Given the description of an element on the screen output the (x, y) to click on. 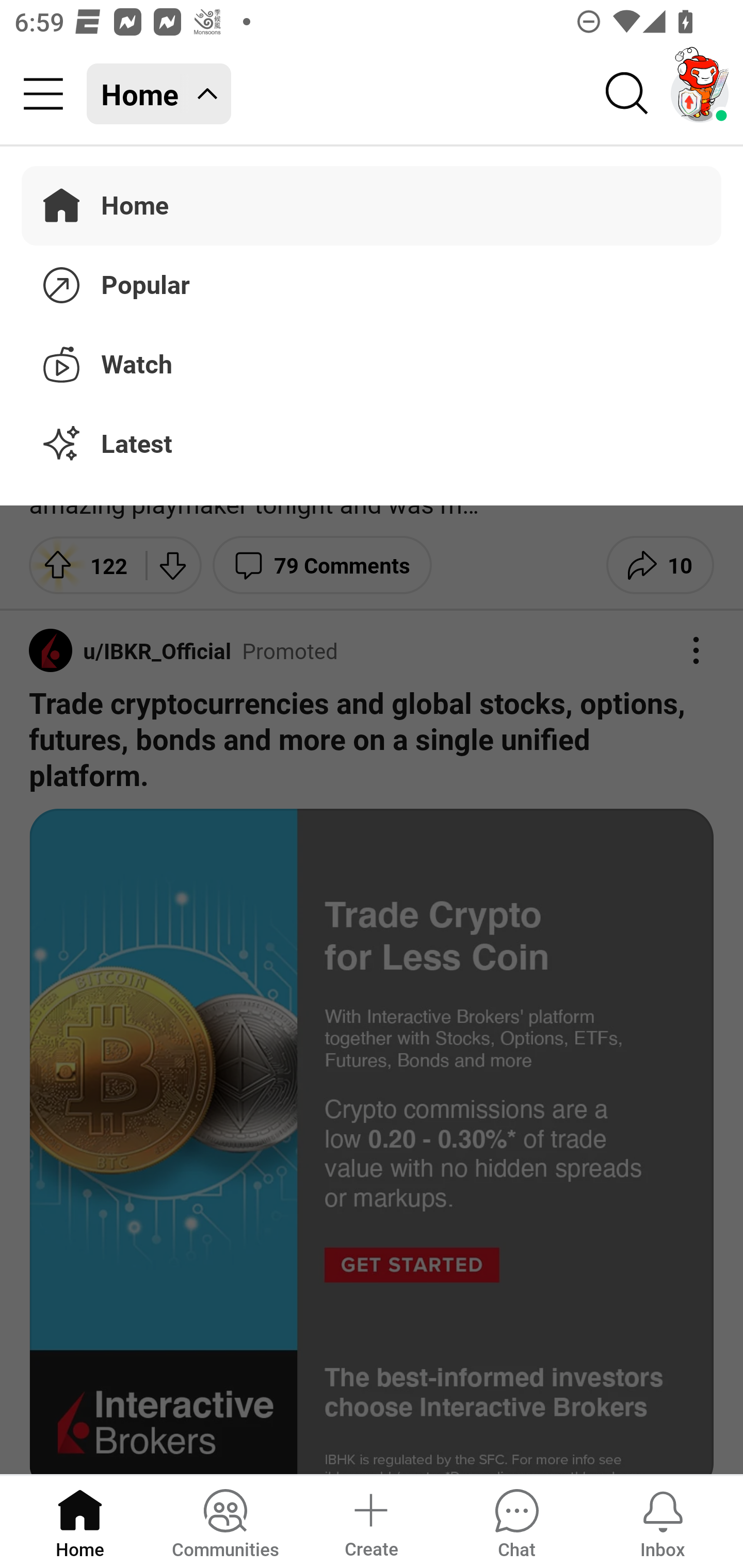
Community menu (43, 93)
Home Home feed (158, 93)
Search (626, 93)
TestAppium002 account (699, 93)
Popular Popular feed (371, 281)
Watch Watch feed (371, 361)
Latest Latest feed (371, 444)
Home (80, 1520)
Communities (225, 1520)
Create a post Create (370, 1520)
Chat (516, 1520)
Inbox (662, 1520)
